Given the description of an element on the screen output the (x, y) to click on. 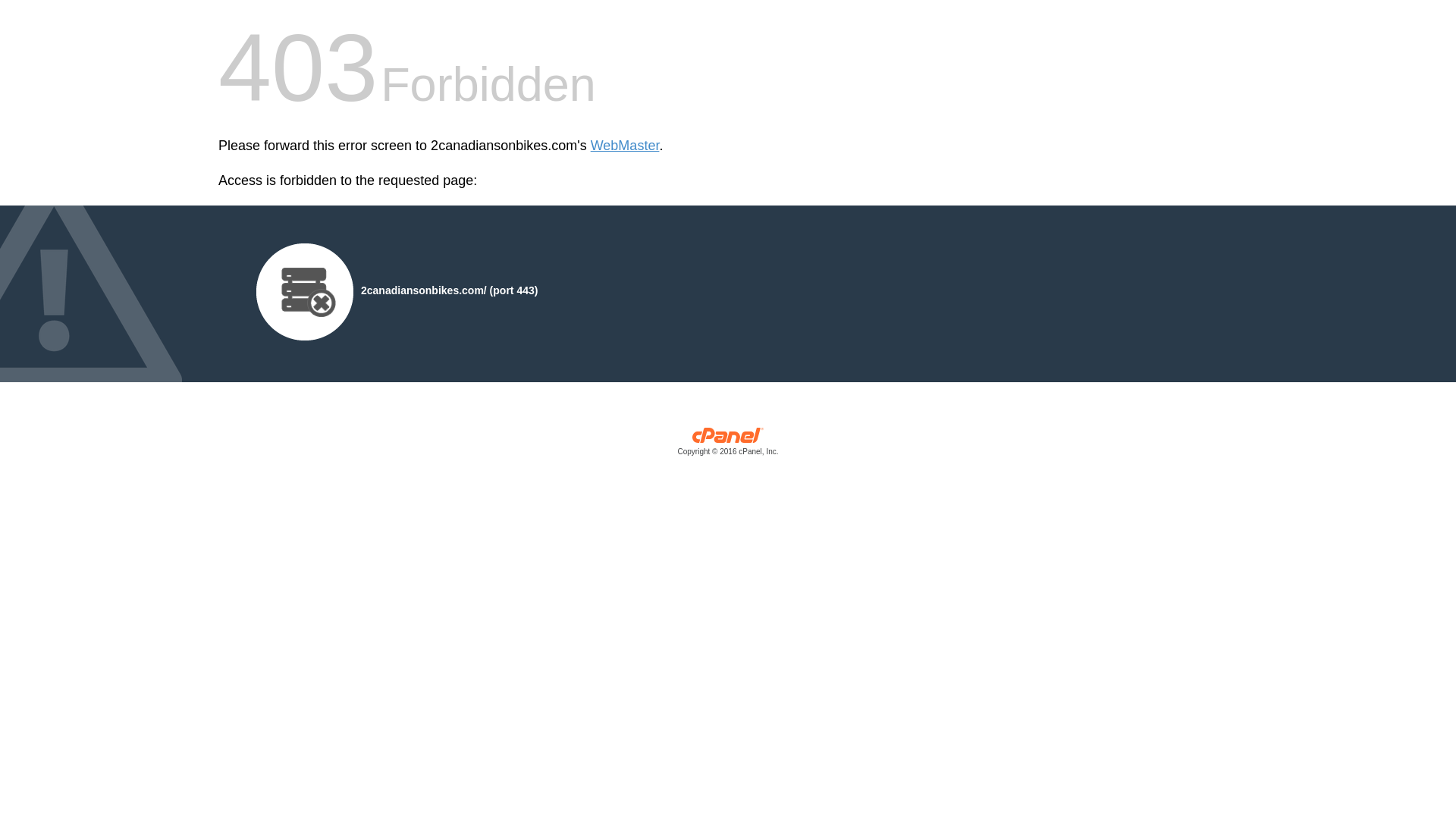
WebMaster Element type: text (624, 145)
